Given the description of an element on the screen output the (x, y) to click on. 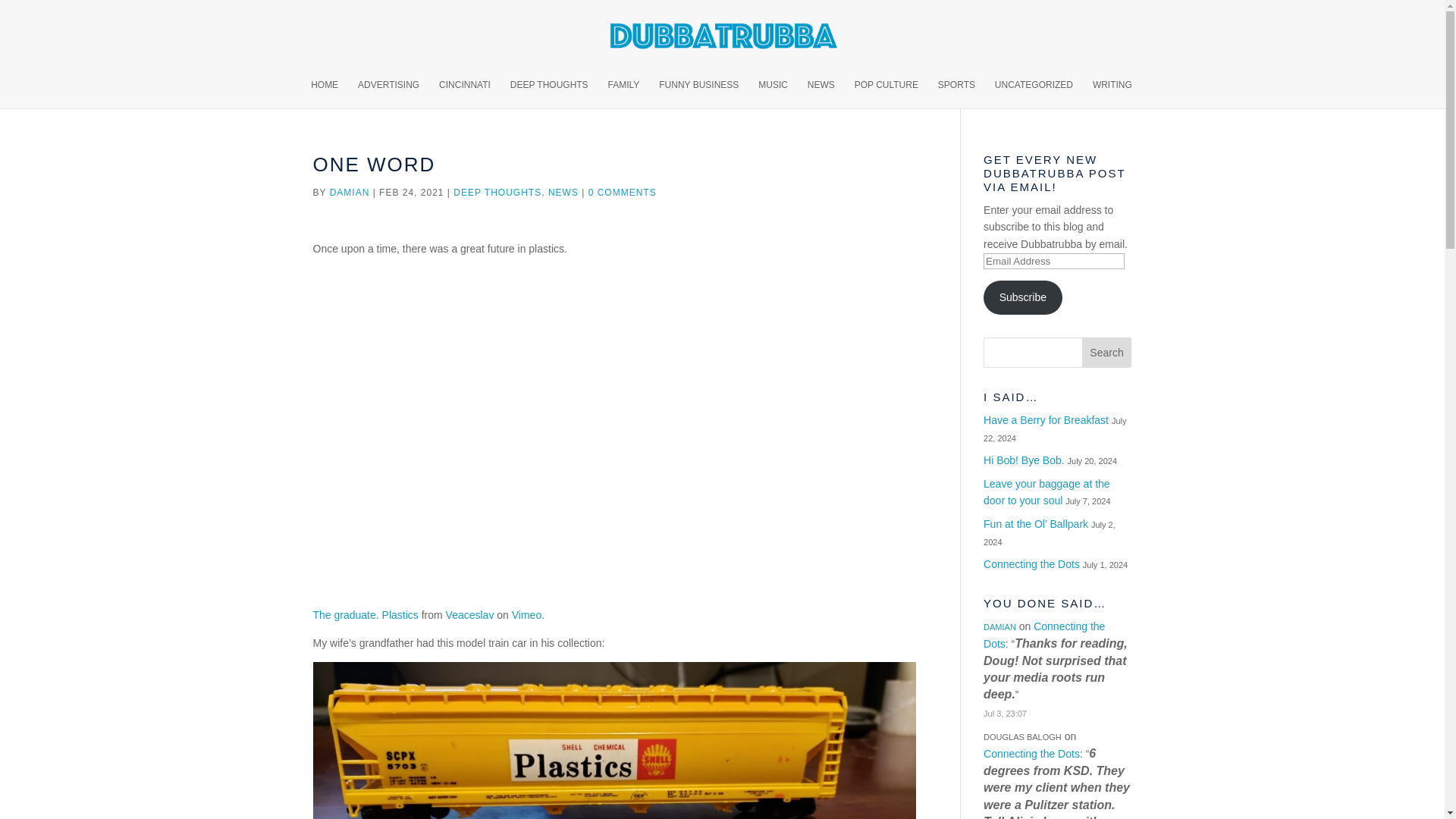
NEWS (563, 192)
HOME (324, 93)
Vimeo (526, 614)
DEEP THOUGHTS (549, 93)
NEWS (821, 93)
ADVERTISING (388, 93)
Search (1106, 352)
FAMILY (624, 93)
FUNNY BUSINESS (698, 93)
SPORTS (956, 93)
Posts by Damian (349, 192)
UNCATEGORIZED (1033, 93)
POP CULTURE (886, 93)
DEEP THOUGHTS (496, 192)
Veaceslav (470, 614)
